Given the description of an element on the screen output the (x, y) to click on. 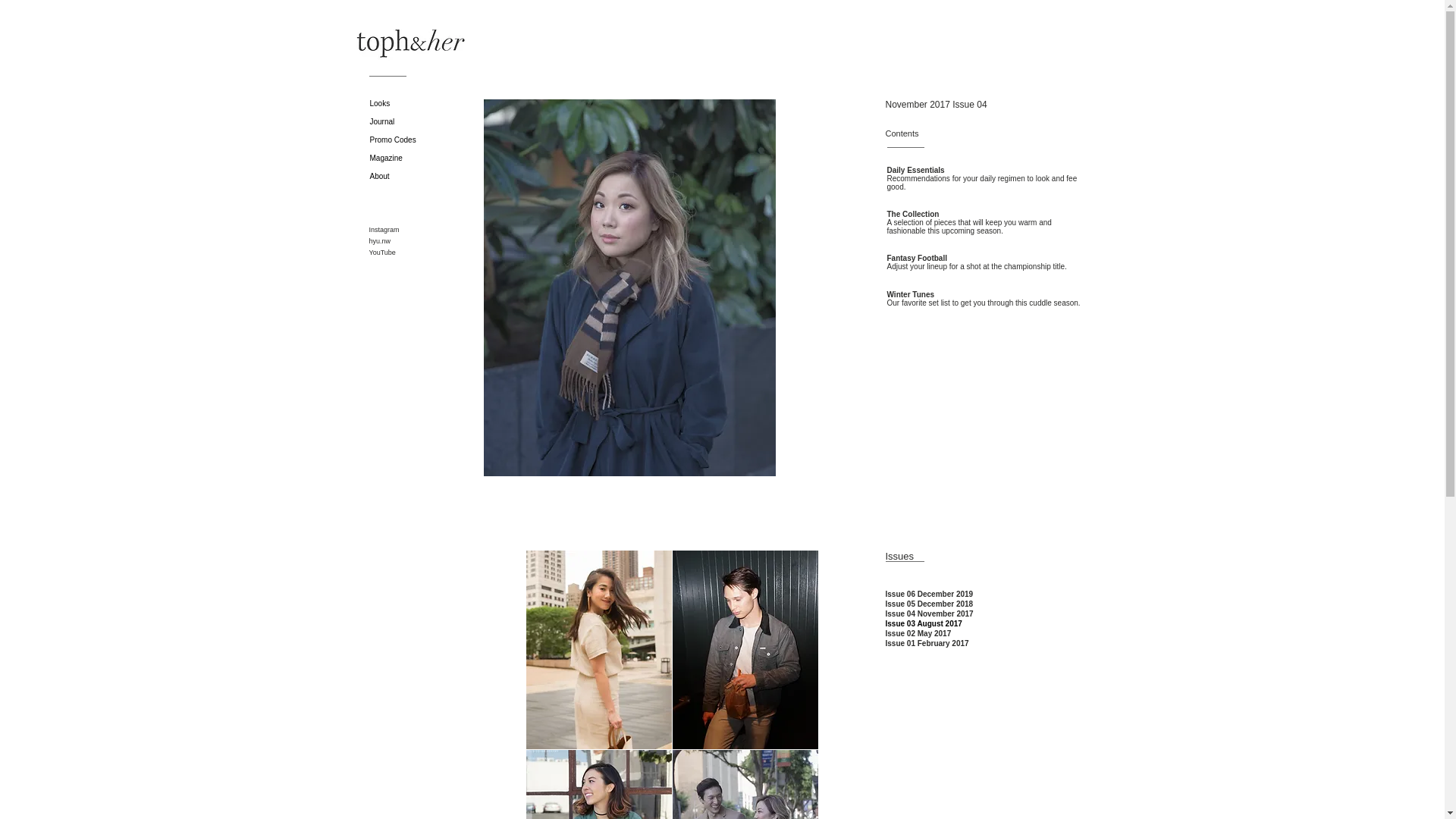
Magazine (409, 158)
Issue 01 February 2017 (927, 643)
YouTube (381, 252)
Journal (409, 122)
Issue 03 August 2017 (923, 623)
hyu.nw (379, 240)
Issue 05 December 2018 (929, 603)
Issue 02 May 2017 (918, 633)
Looks (409, 104)
Promo Codes (409, 140)
